Given the description of an element on the screen output the (x, y) to click on. 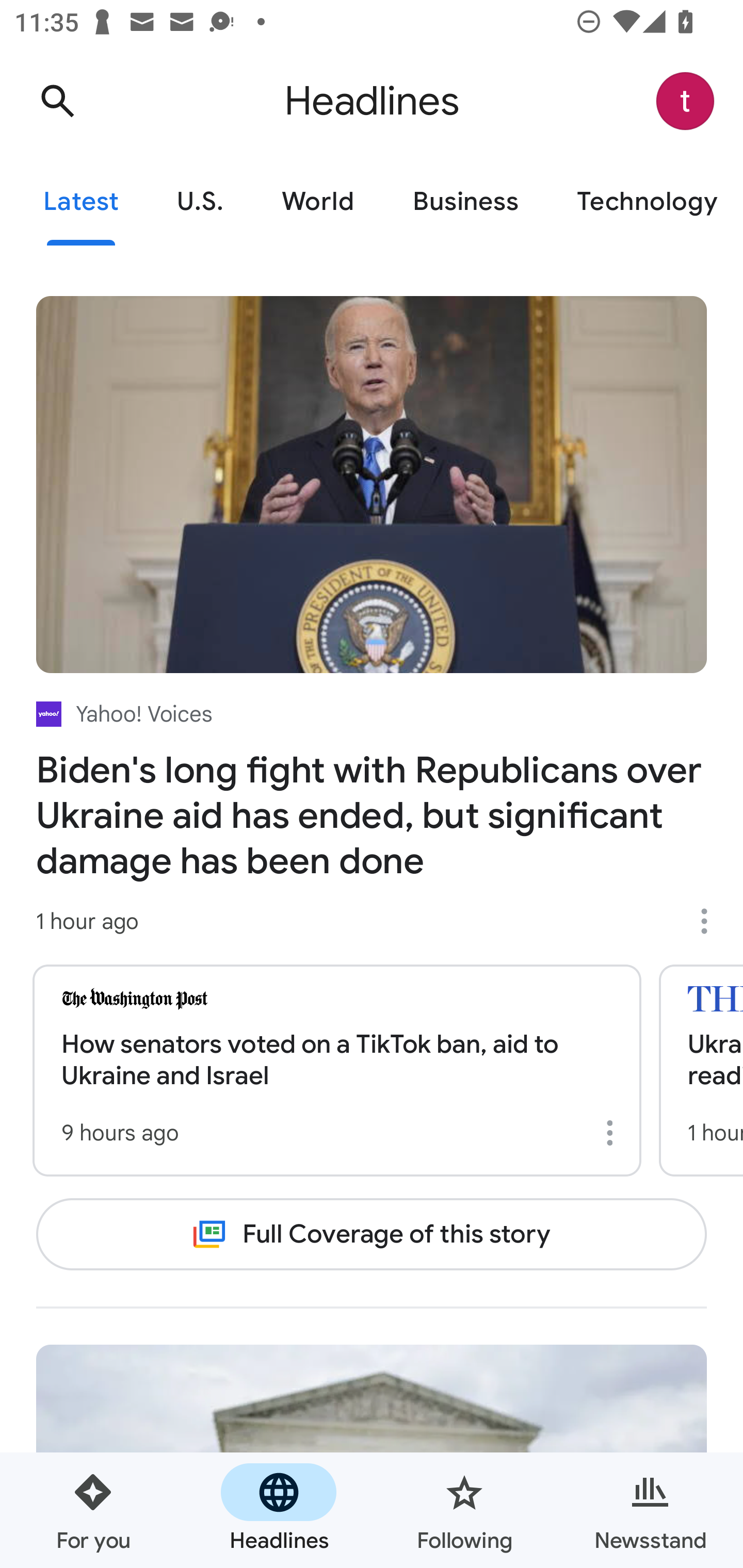
Search (57, 100)
U.S. (199, 202)
World (317, 202)
Business (465, 202)
Technology (645, 202)
More options (711, 921)
More options (613, 1132)
Full Coverage of this story (371, 1233)
For you (92, 1509)
Headlines (278, 1509)
Following (464, 1509)
Newsstand (650, 1509)
